Given the description of an element on the screen output the (x, y) to click on. 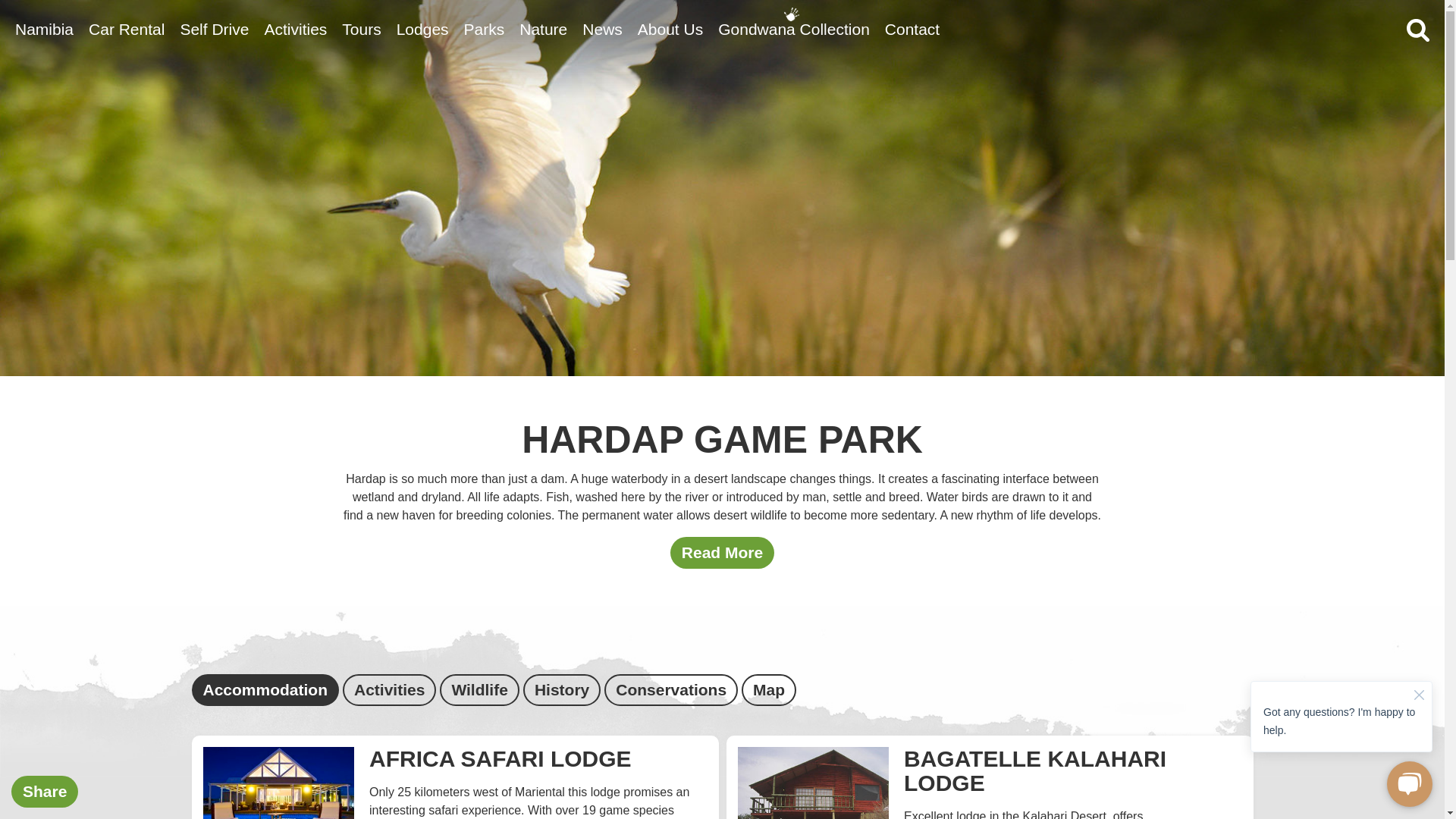
About Us (670, 29)
Self Drive (213, 29)
Namibia (44, 29)
Car Rental (126, 29)
Lodges (422, 29)
Nature (543, 29)
Parks (484, 29)
Activities (294, 29)
Tours (361, 29)
News (602, 29)
